Given the description of an element on the screen output the (x, y) to click on. 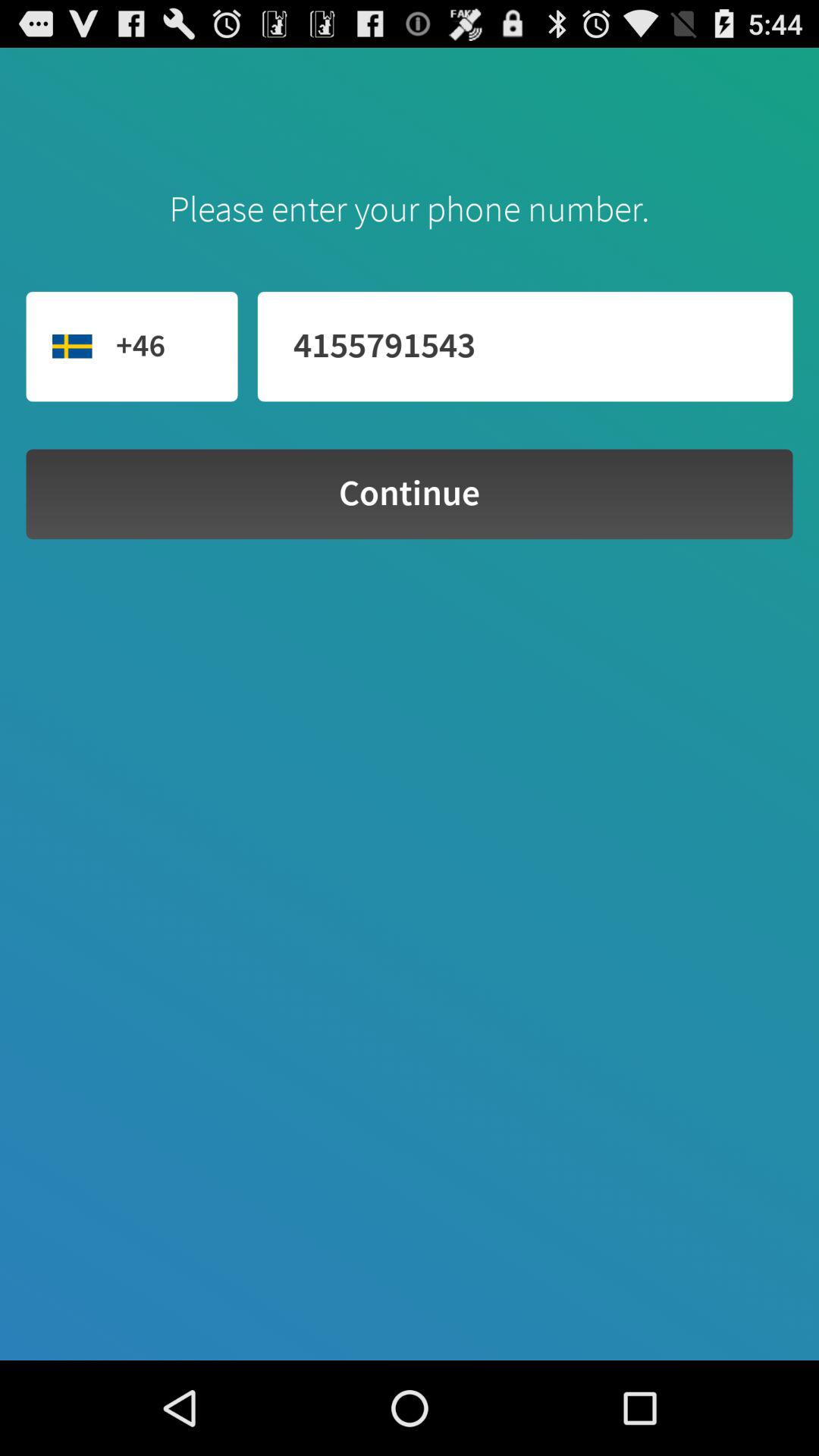
press the item below the 4155791543 icon (409, 494)
